Given the description of an element on the screen output the (x, y) to click on. 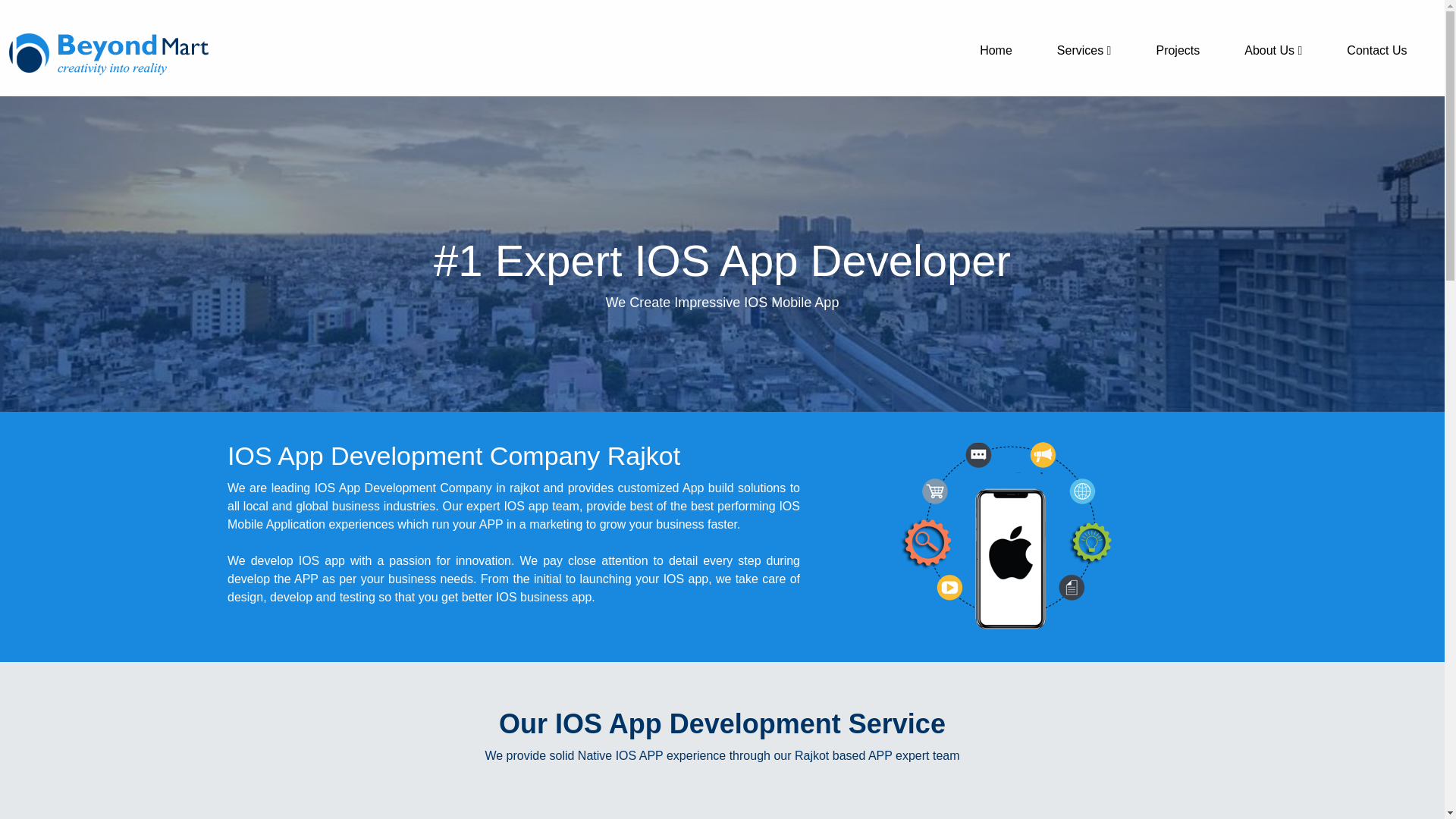
About Us (1272, 50)
Our IOS App Development Services (722, 724)
Contact Us (1376, 50)
Home (996, 50)
Projects (1177, 50)
Services (1084, 50)
BeyondMart (118, 48)
